Given the description of an element on the screen output the (x, y) to click on. 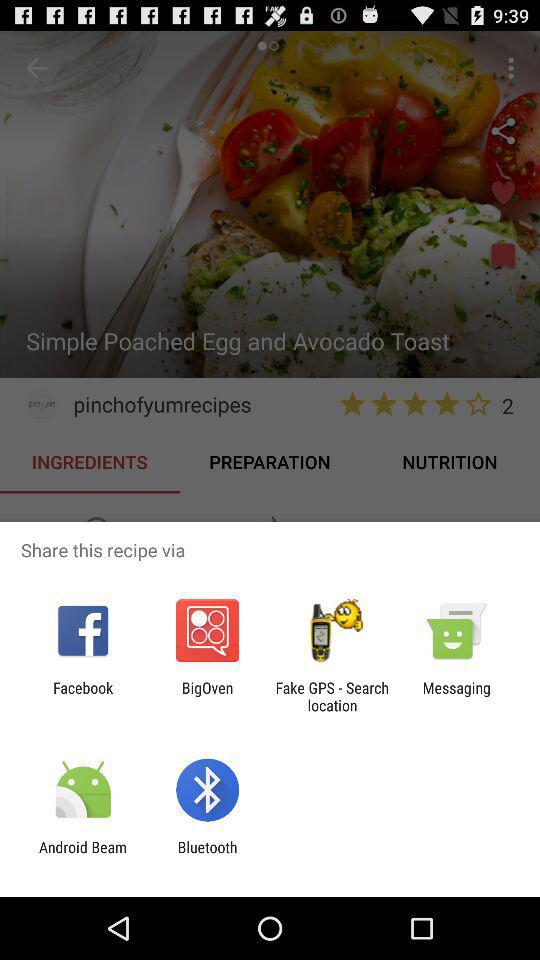
flip to android beam app (83, 856)
